Given the description of an element on the screen output the (x, y) to click on. 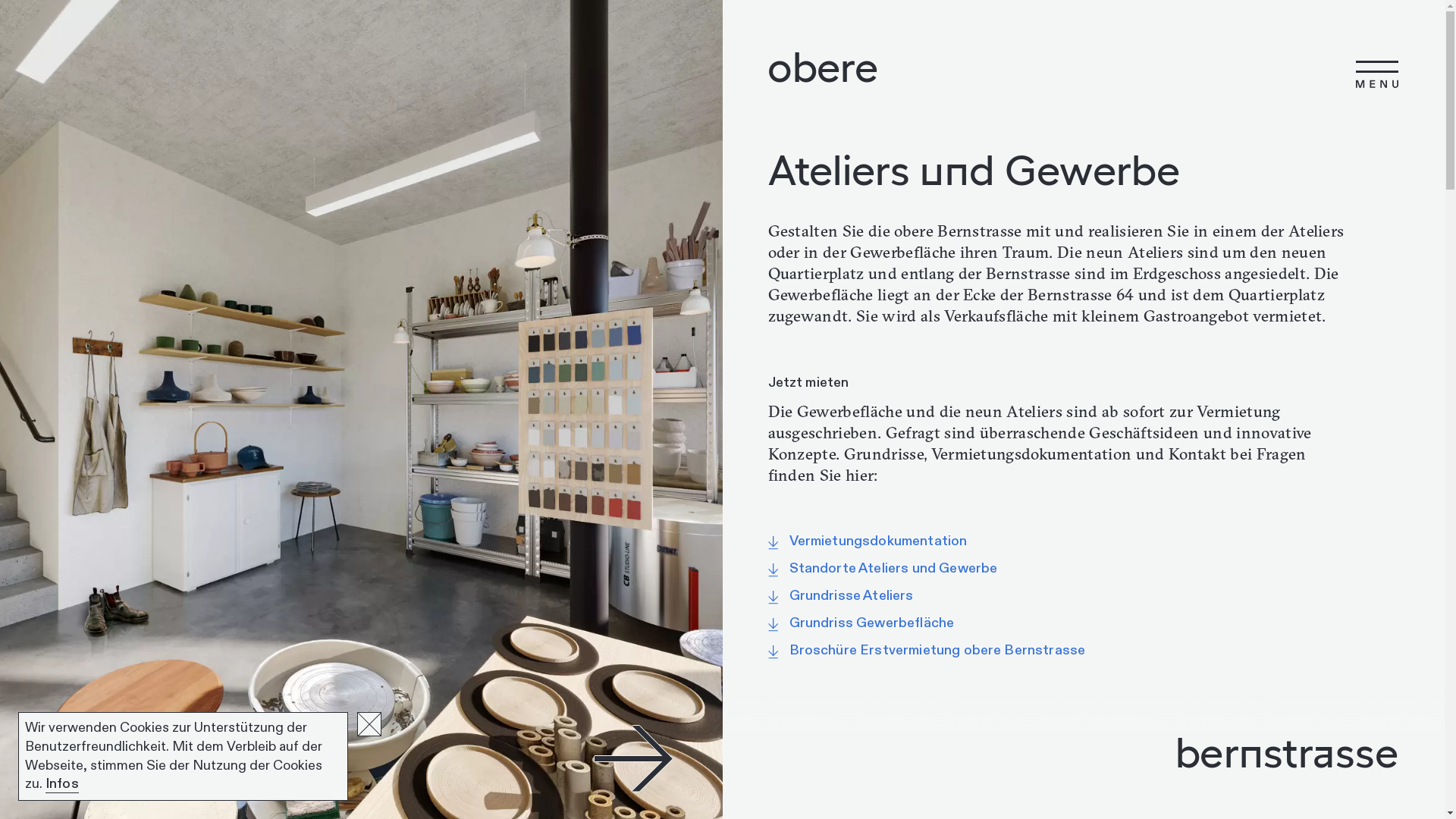
Infos Element type: text (61, 784)
akzeptieren & schliessen Element type: hover (369, 724)
obere Element type: text (822, 66)
bernstrasse Element type: text (1084, 752)
